Given the description of an element on the screen output the (x, y) to click on. 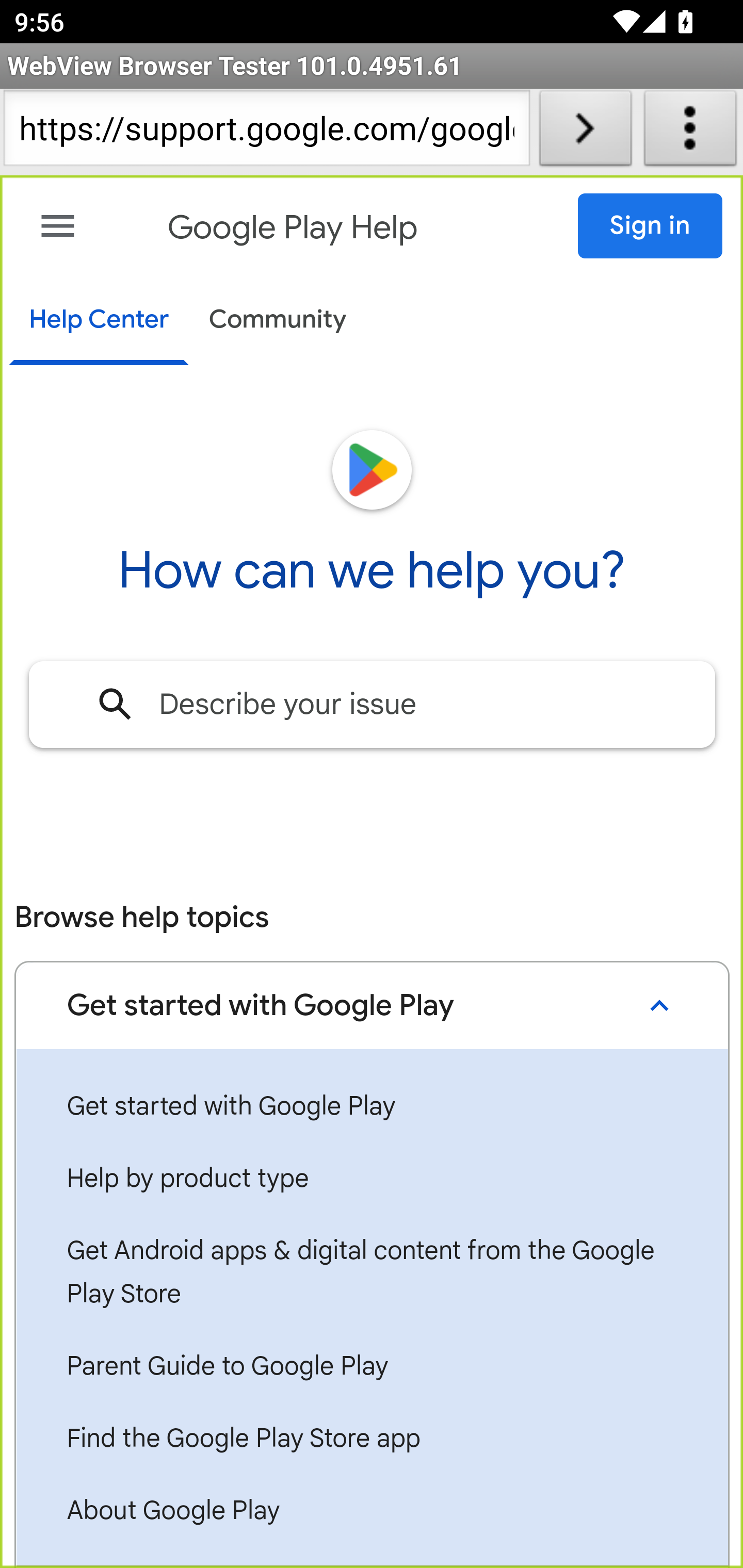
Load URL (585, 132)
About WebView (690, 132)
Main menu (58, 226)
Google Play Help (292, 227)
Sign in (650, 226)
Help Center (98, 320)
Community (277, 320)
Search (116, 703)
Get started with Google Play (371, 1106)
Help by product type (371, 1179)
Parent Guide to Google Play (371, 1367)
Find the Google Play Store app (371, 1440)
About Google Play (371, 1512)
